Given the description of an element on the screen output the (x, y) to click on. 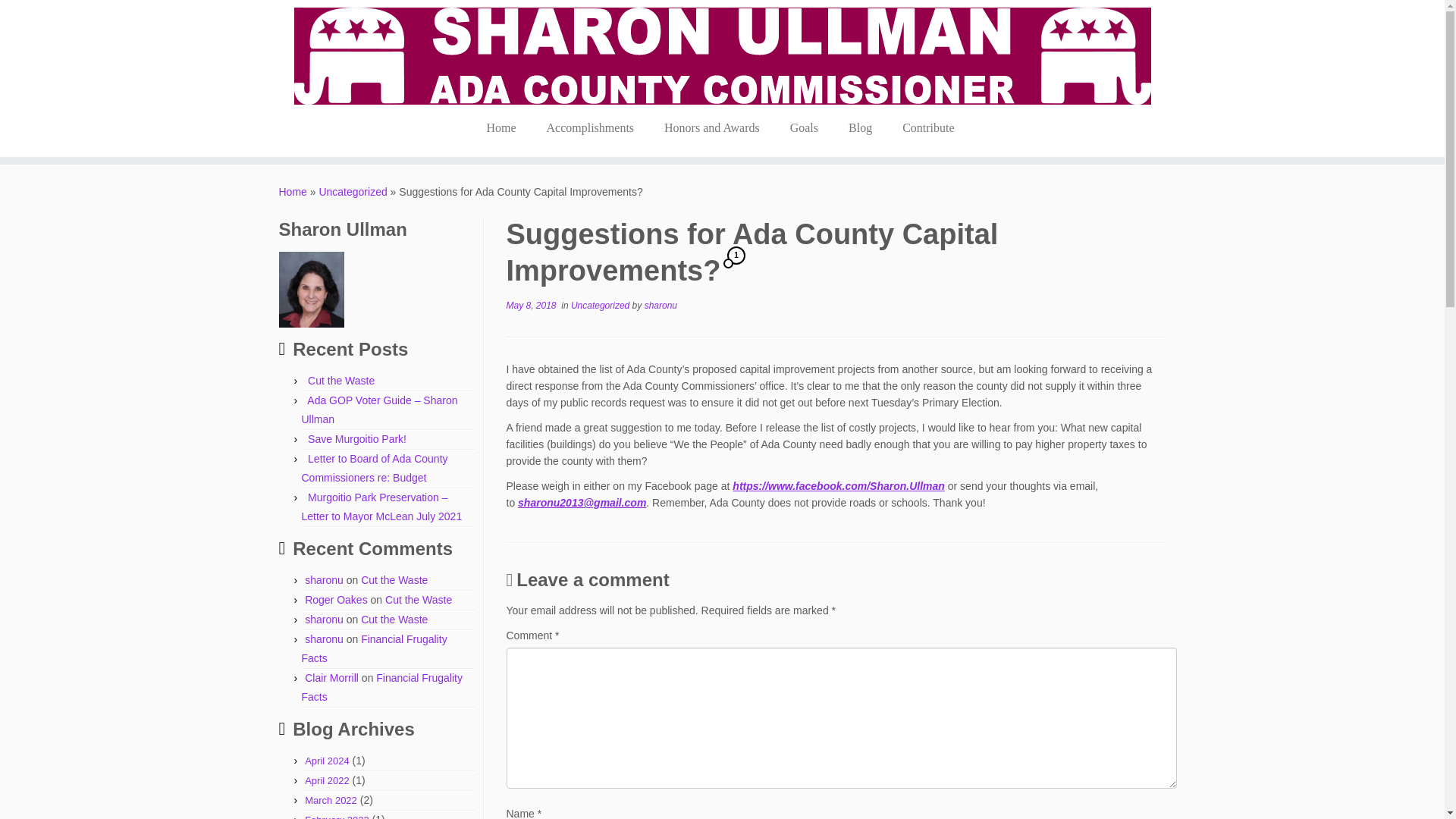
Roger Oakes (335, 599)
Uncategorized (352, 191)
February 2022 (336, 816)
Cut the Waste (394, 580)
Home (293, 191)
Cut the Waste (394, 619)
Contribute (927, 128)
sharonu (323, 580)
Blog (859, 128)
10:27 am (531, 305)
Clair Morrill (331, 677)
sharonu (323, 619)
Cut the Waste (340, 380)
March 2022 (330, 799)
April 2024 (326, 760)
